Given the description of an element on the screen output the (x, y) to click on. 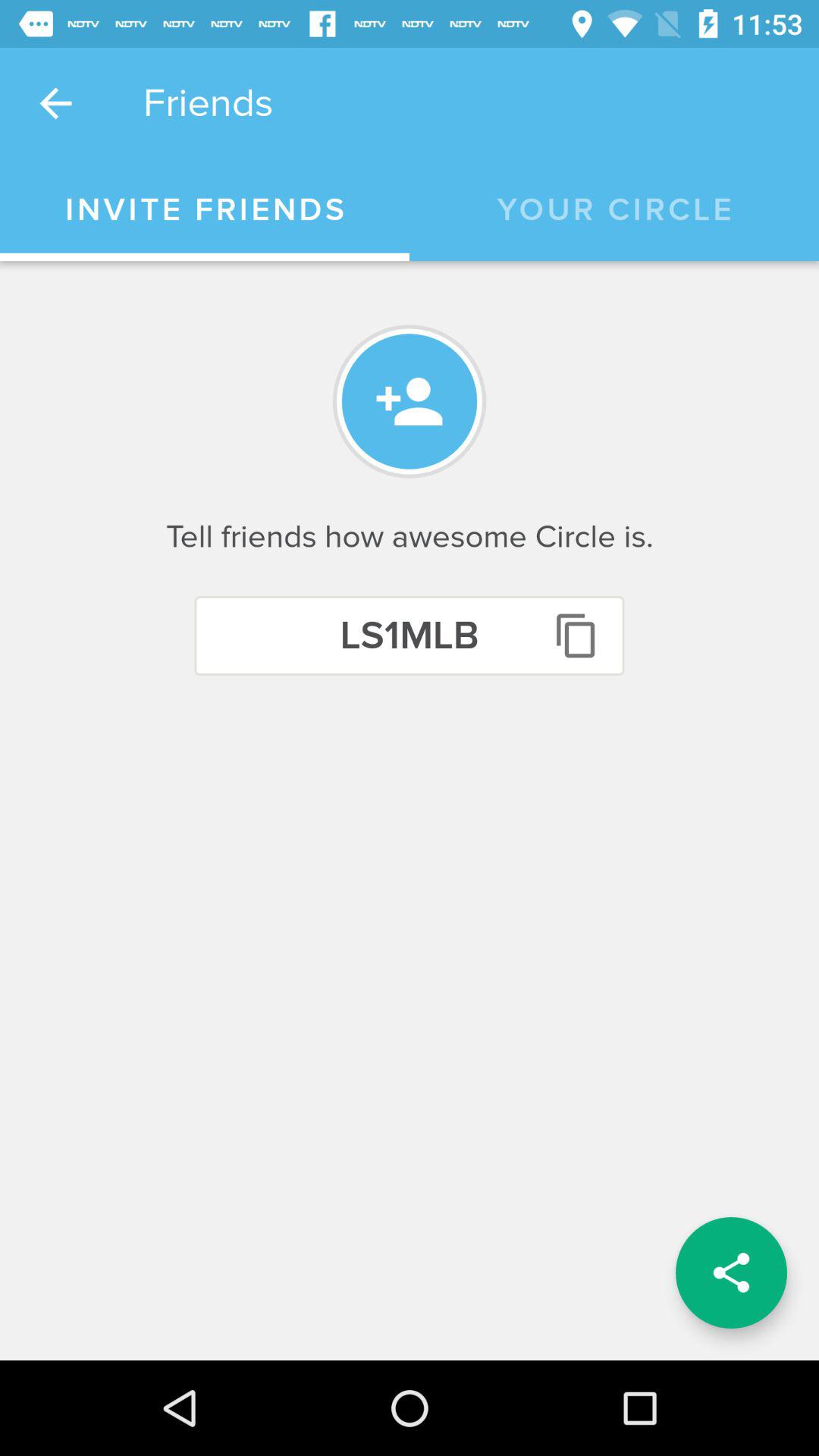
turn on the item at the top right corner (614, 210)
